Given the description of an element on the screen output the (x, y) to click on. 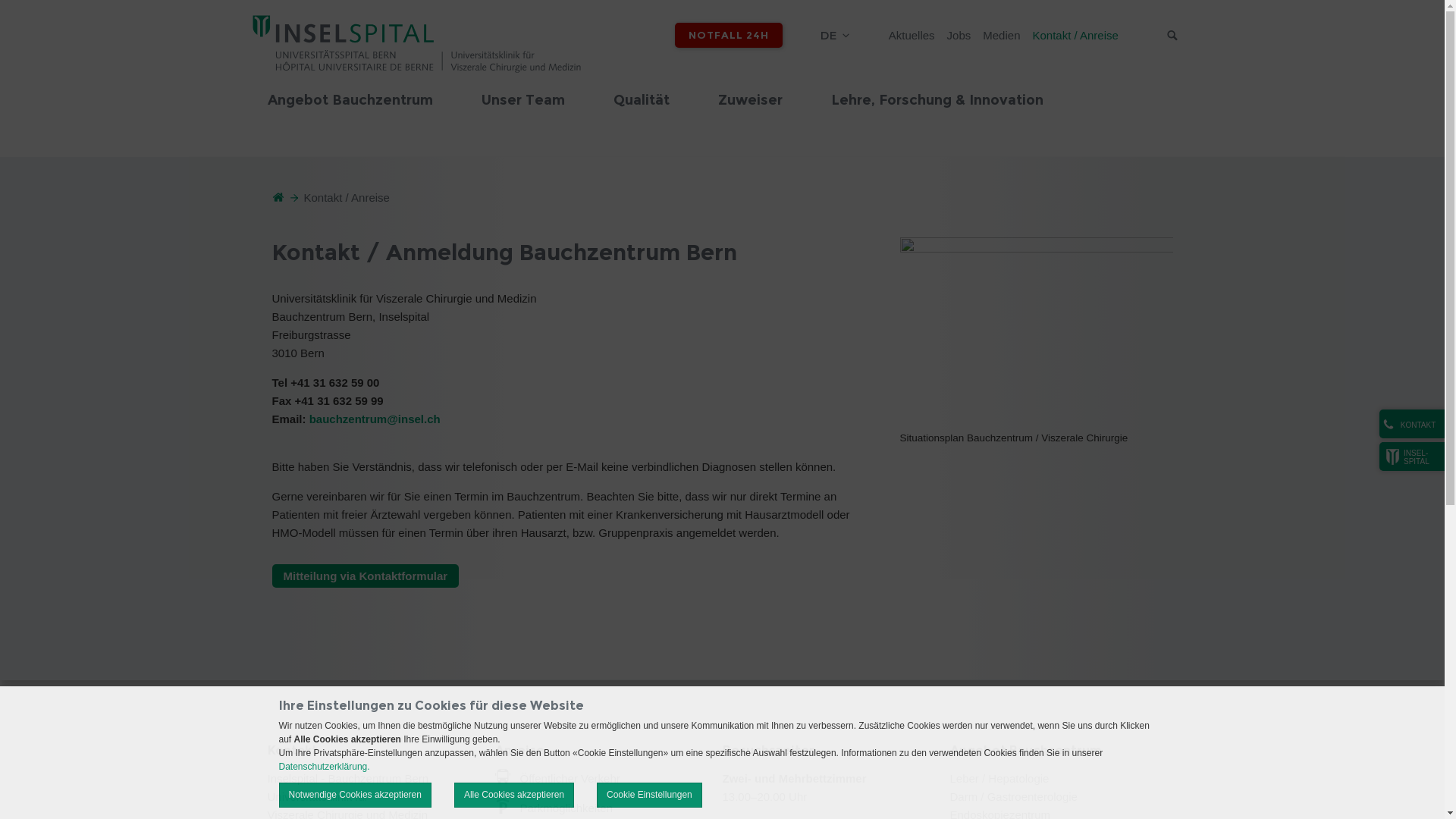
NOTFALL 24H Element type: text (728, 34)
Leber / Hepatologie Element type: text (998, 777)
Angebot Bauchzentrum Element type: text (349, 115)
Zuweiser Element type: text (749, 115)
Notwendige Cookies akzeptieren Element type: text (355, 794)
Jobs Element type: text (959, 34)
Medien Element type: text (1001, 34)
Kontakt / Anreise Element type: text (1074, 34)
Darm / Gastroenterologie Element type: text (1012, 796)
Suche Element type: text (1172, 35)
INSEL-
SPITAL Element type: text (1411, 456)
Lehre, Forschung & Innovation Element type: text (937, 115)
Aktuelles Element type: text (911, 34)
Mitteilung via Kontaktformular Element type: text (364, 575)
Unser Team Element type: text (522, 115)
Angebot Bauchzentrum Element type: text (1024, 750)
bauchzentrum@insel.ch Element type: text (374, 418)
Situationsplan Bauchzentrum / Viszerale Chirurgie Element type: hover (1035, 332)
KONTAKT Element type: text (1411, 423)
Cookie Einstellungen Element type: text (649, 794)
Situationsplan Bauchzentrum / Viszerale Chirurgie Element type: hover (1035, 331)
Alle Cookies akzeptieren Element type: text (514, 794)
